Given the description of an element on the screen output the (x, y) to click on. 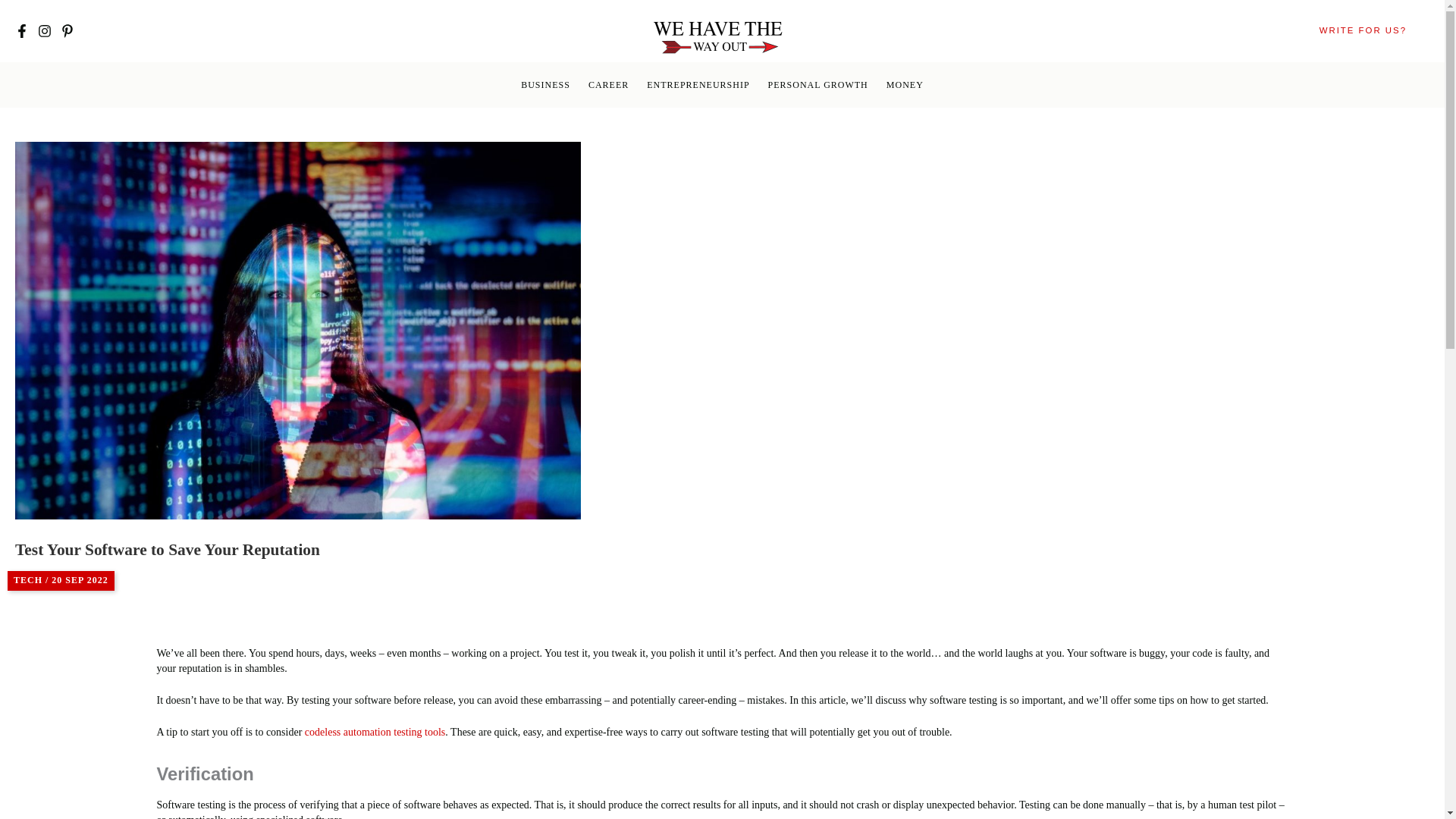
PERSONAL GROWTH (817, 84)
codeless automation testing tools (374, 731)
CAREER (608, 84)
WRITE FOR US? (1363, 30)
ENTREPRENEURSHIP (697, 84)
MONEY (905, 84)
TECH (27, 579)
BUSINESS (545, 84)
